Given the description of an element on the screen output the (x, y) to click on. 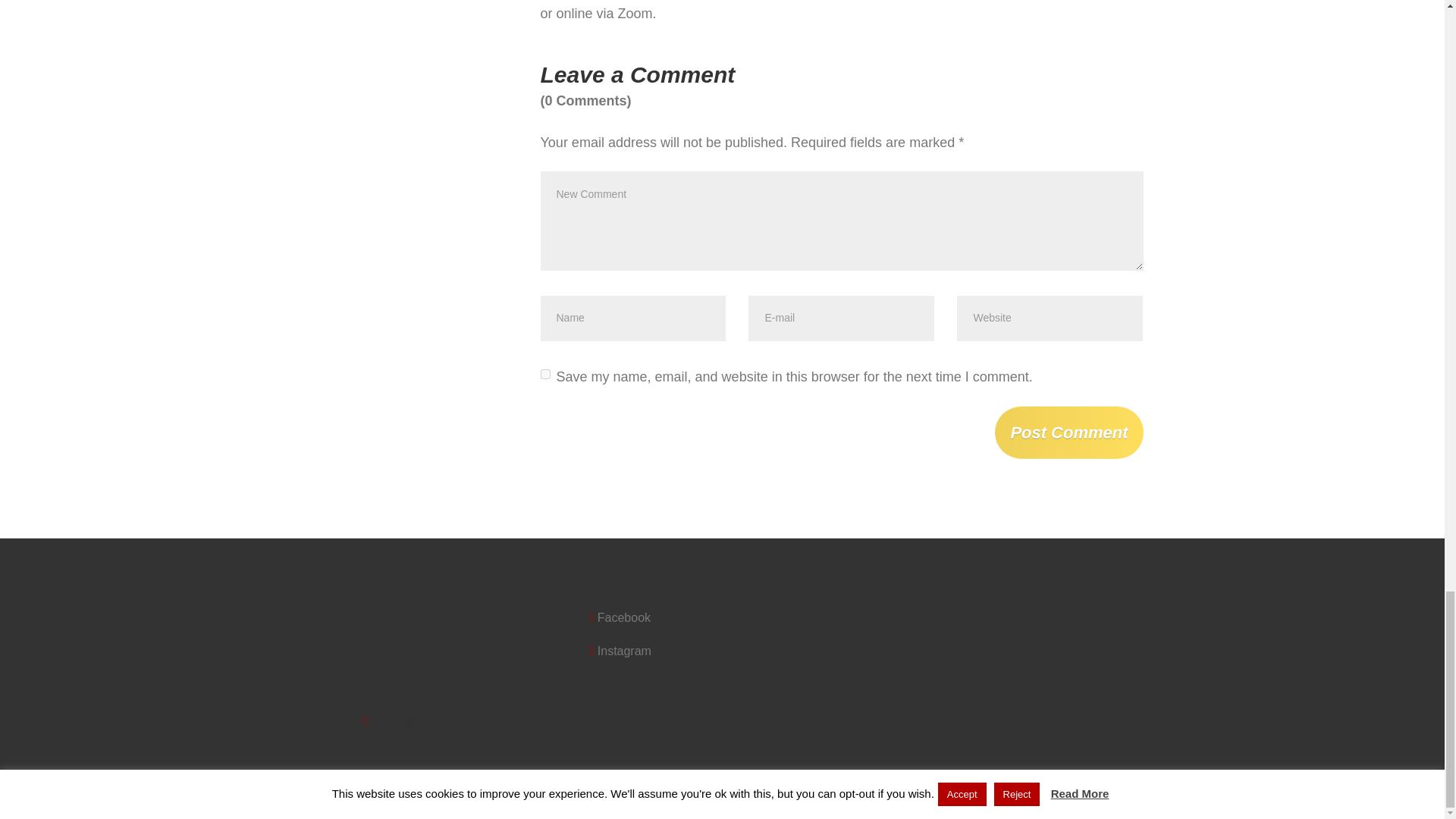
Post Comment (1068, 432)
Post Comment (1068, 432)
yes (545, 374)
